Given the description of an element on the screen output the (x, y) to click on. 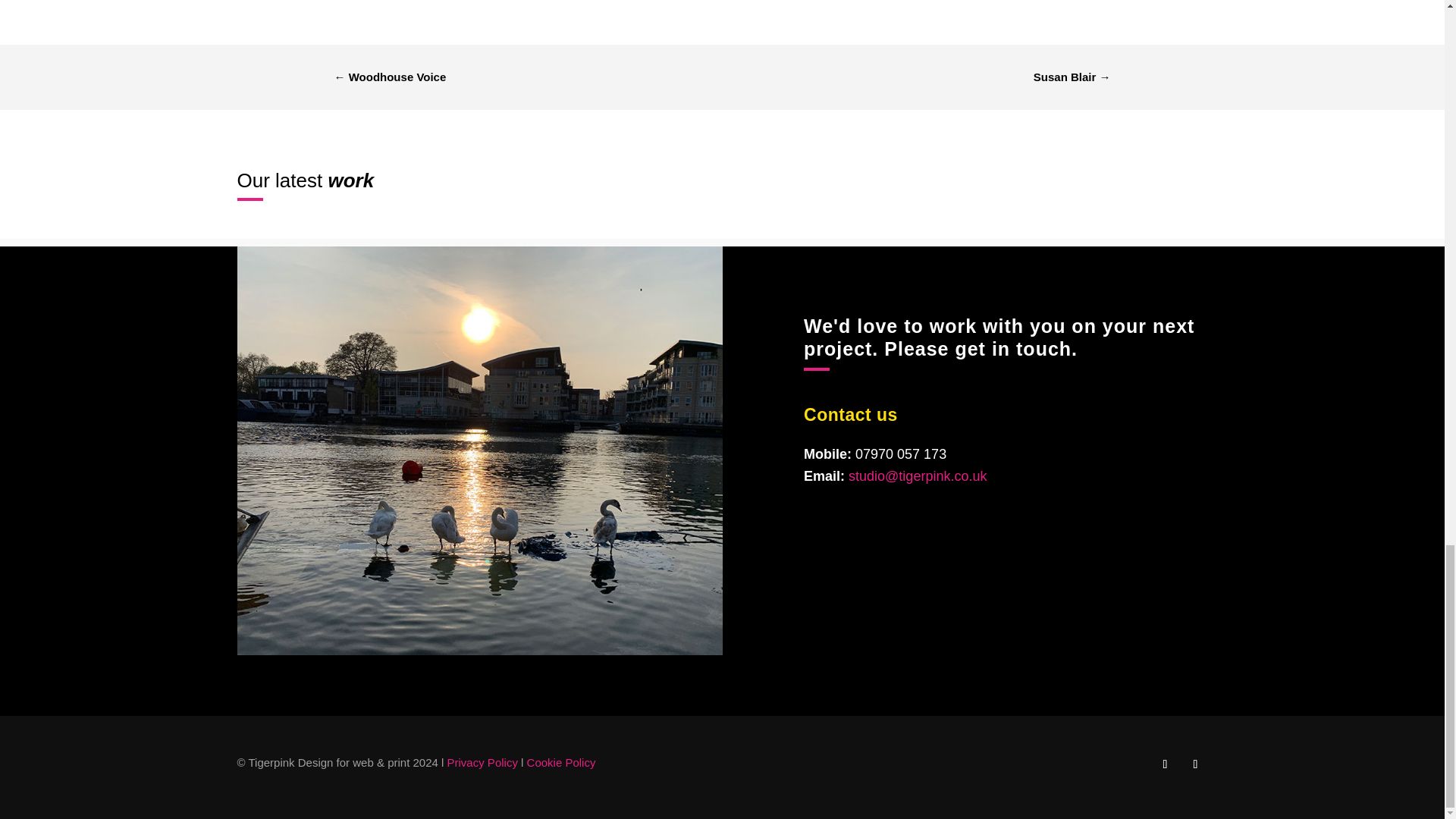
Read our Privacy Policy (482, 762)
Follow on Instagram (1194, 764)
Privacy Policy (482, 762)
Read our Cookie Policy (561, 762)
Cookie Policy (561, 762)
Follow on X (1164, 764)
